Given the description of an element on the screen output the (x, y) to click on. 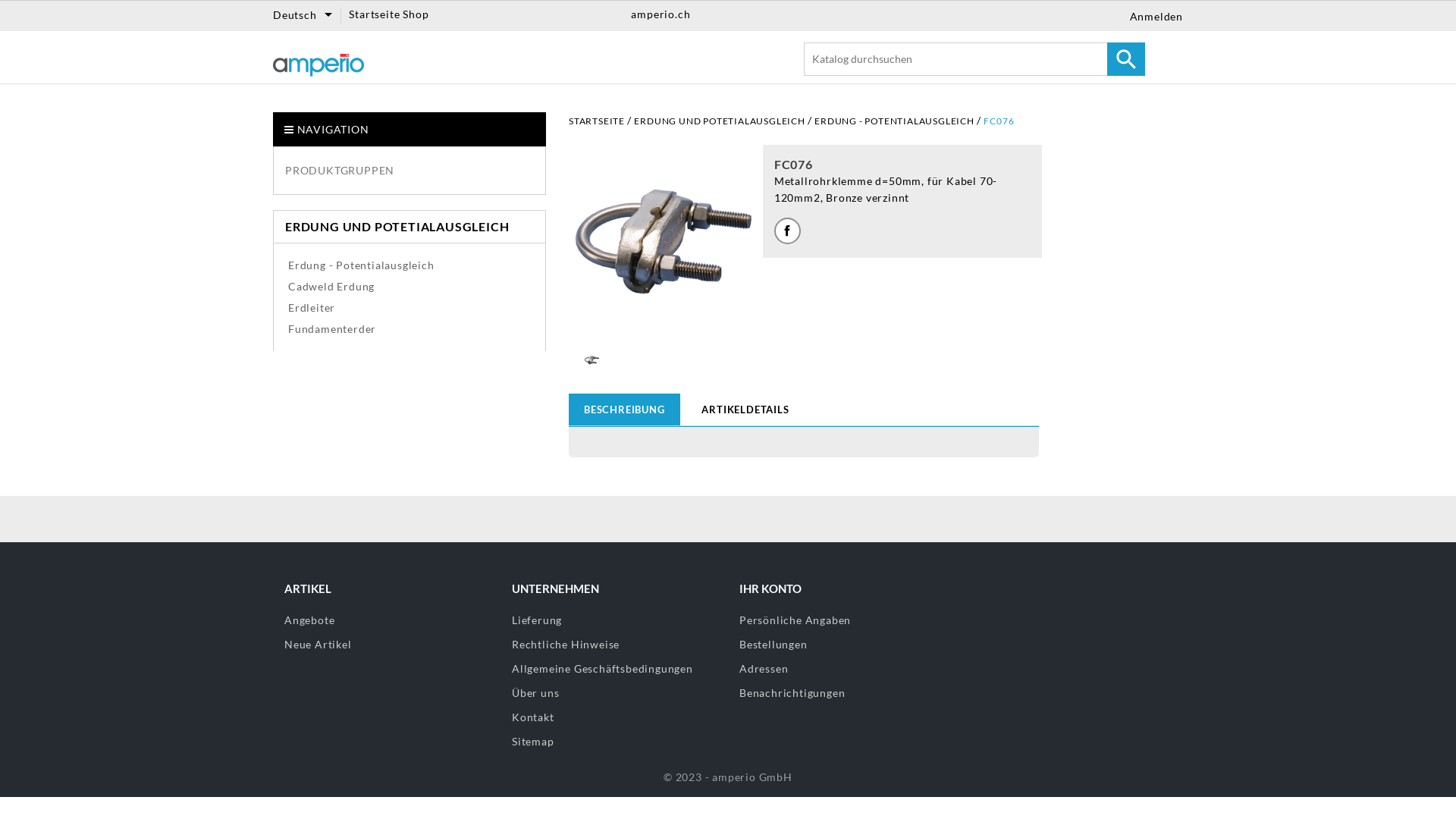
Erdung - Potentialausgleich Element type: text (361, 265)
Angebote Element type: text (386, 619)
ERDUNG UND POTETIALAUSGLEICH Element type: text (396, 226)
Anmelden Element type: text (1152, 15)
Aktualisieren Element type: text (37, 10)
Cadweld Erdung Element type: text (331, 286)
ERDUNG - POTENTIALAUSGLEICH Element type: text (894, 120)
Teilen Element type: text (786, 230)
amperio.ch Element type: text (660, 13)
Startseite Shop Element type: text (388, 13)
BESCHREIBUNG Element type: text (624, 409)
ARTIKELDETAILS Element type: text (744, 409)
Erdleiter Element type: text (311, 307)
Fundamenterder Element type: text (332, 328)
Benachrichtigungen Element type: text (791, 692)
Sitemap Element type: text (613, 741)
IHR KONTO Element type: text (770, 588)
PRODUKTGRUPPEN Element type: text (409, 170)
ERDUNG UND POTETIALAUSGLEICH Element type: text (719, 120)
Bestellungen Element type: text (773, 643)
Kontakt Element type: text (613, 717)
STARTSEITE Element type: text (597, 120)
Neue Artikel Element type: text (386, 644)
Lieferung Element type: text (613, 619)
Rechtliche Hinweise Element type: text (613, 644)
FC076 Element type: text (998, 120)
Adressen Element type: text (763, 668)
